Given the description of an element on the screen output the (x, y) to click on. 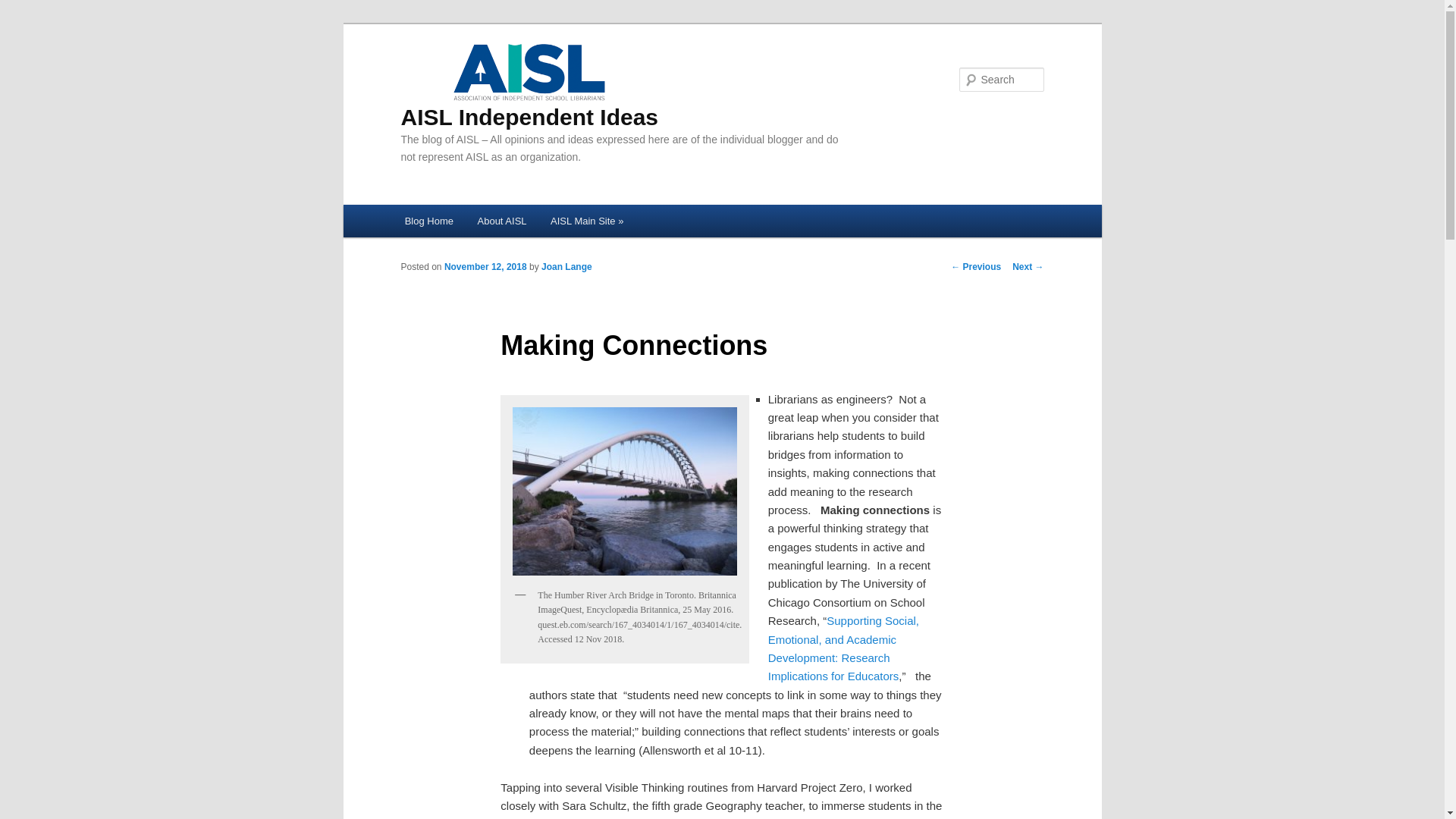
About AISL (501, 220)
View all posts by Joan Lange (566, 266)
Joan Lange (566, 266)
AISL Independent Ideas (529, 84)
Blog Home (429, 220)
8:50 pm (485, 266)
Search (24, 8)
November 12, 2018 (485, 266)
